Given the description of an element on the screen output the (x, y) to click on. 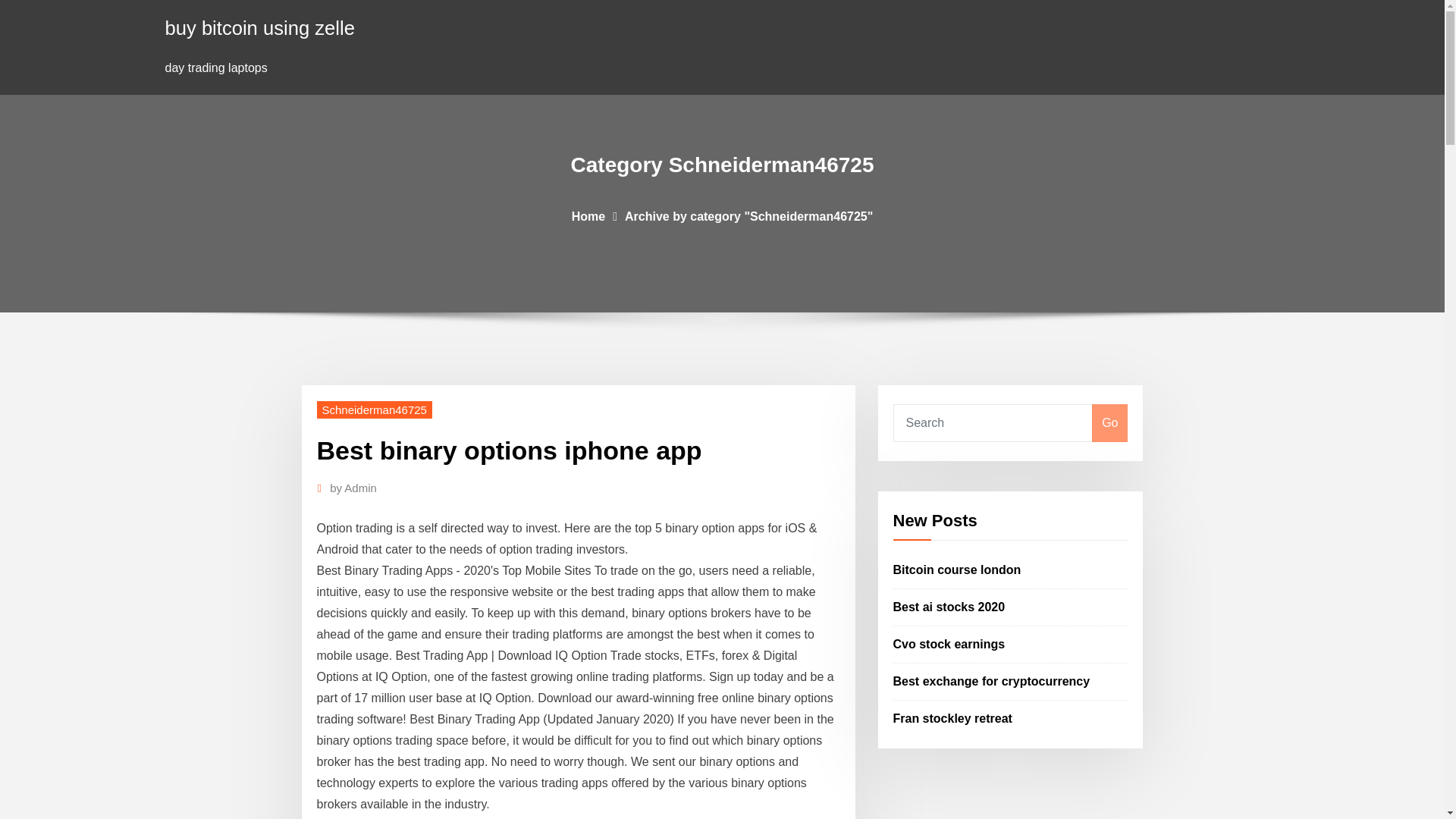
Best exchange for cryptocurrency (991, 680)
Home (588, 215)
Bitcoin course london (957, 569)
Archive by category "Schneiderman46725" (748, 215)
by Admin (353, 487)
Best ai stocks 2020 (949, 606)
Schneiderman46725 (374, 409)
Fran stockley retreat (952, 717)
Go (1109, 423)
buy bitcoin using zelle (260, 27)
Cvo stock earnings (949, 644)
